Given the description of an element on the screen output the (x, y) to click on. 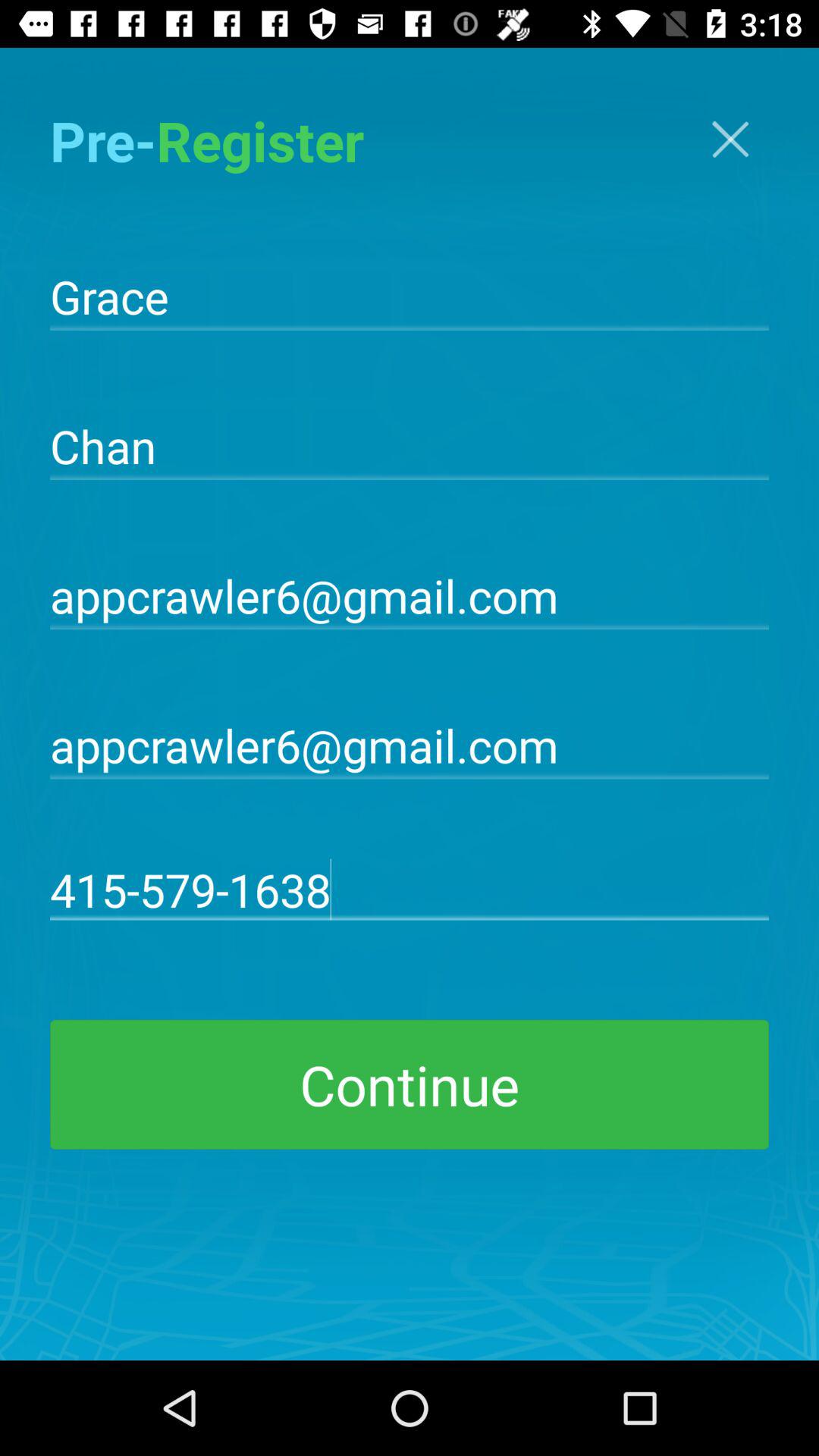
select item below appcrawler6@gmail.com item (409, 889)
